Given the description of an element on the screen output the (x, y) to click on. 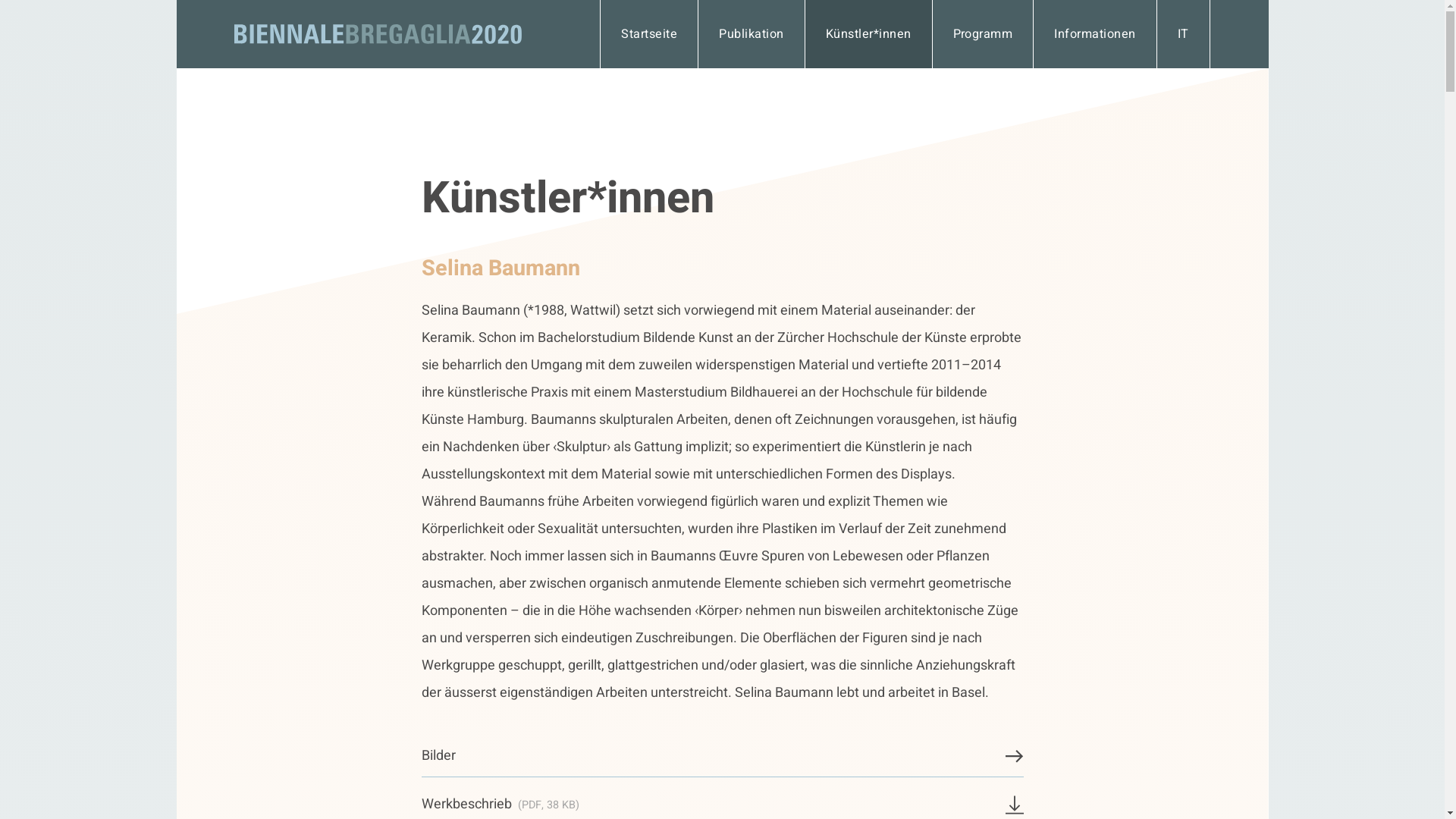
Informationen Element type: text (1094, 34)
Programm Element type: text (982, 34)
Bilder Element type: text (722, 756)
Publikation Element type: text (750, 34)
Startseite Element type: text (648, 34)
zur Startseite Element type: hover (378, 34)
IT Element type: text (1183, 34)
